Given the description of an element on the screen output the (x, y) to click on. 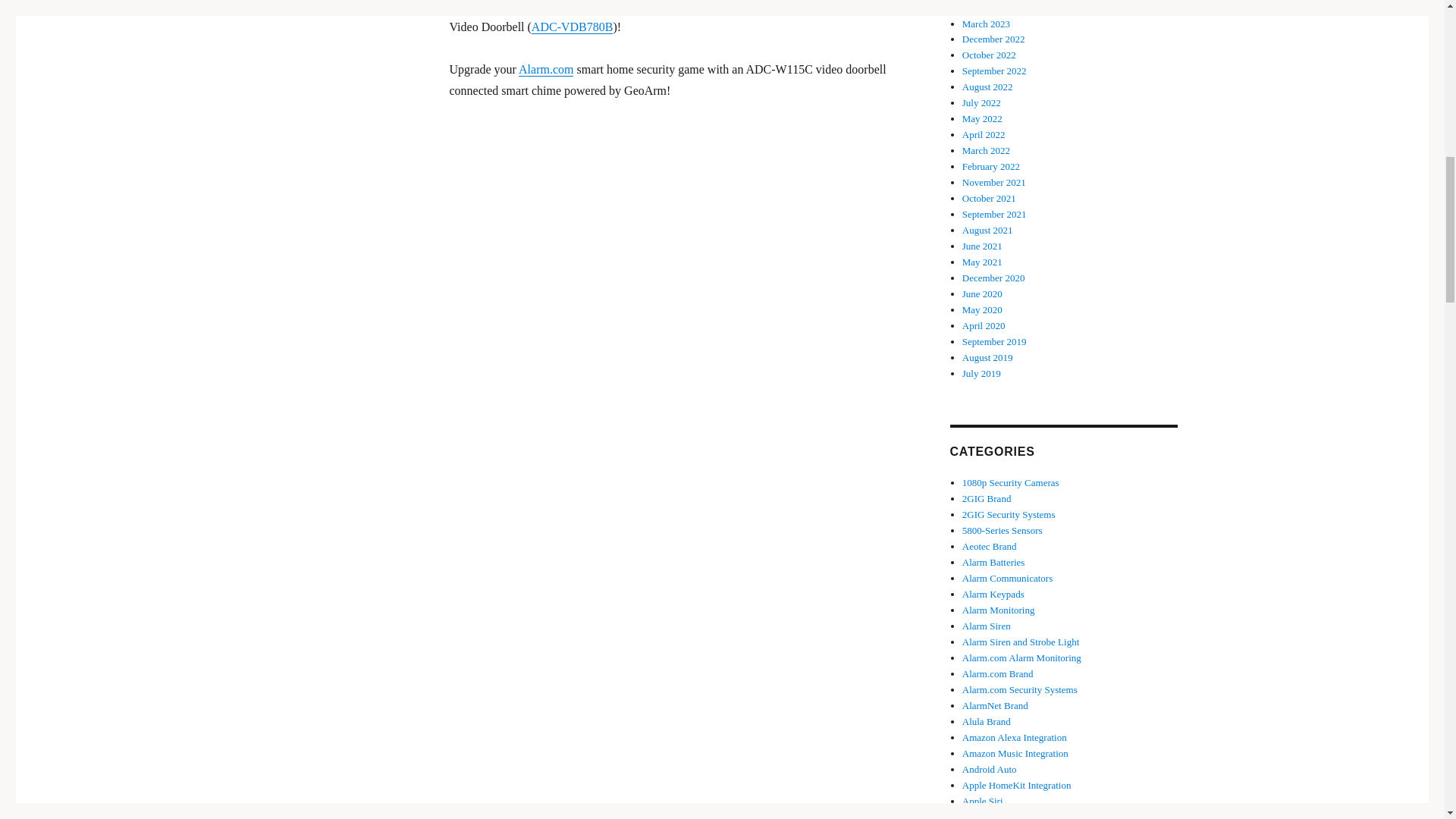
ADC-VDB780B (571, 26)
Alarm.com (545, 69)
